Given the description of an element on the screen output the (x, y) to click on. 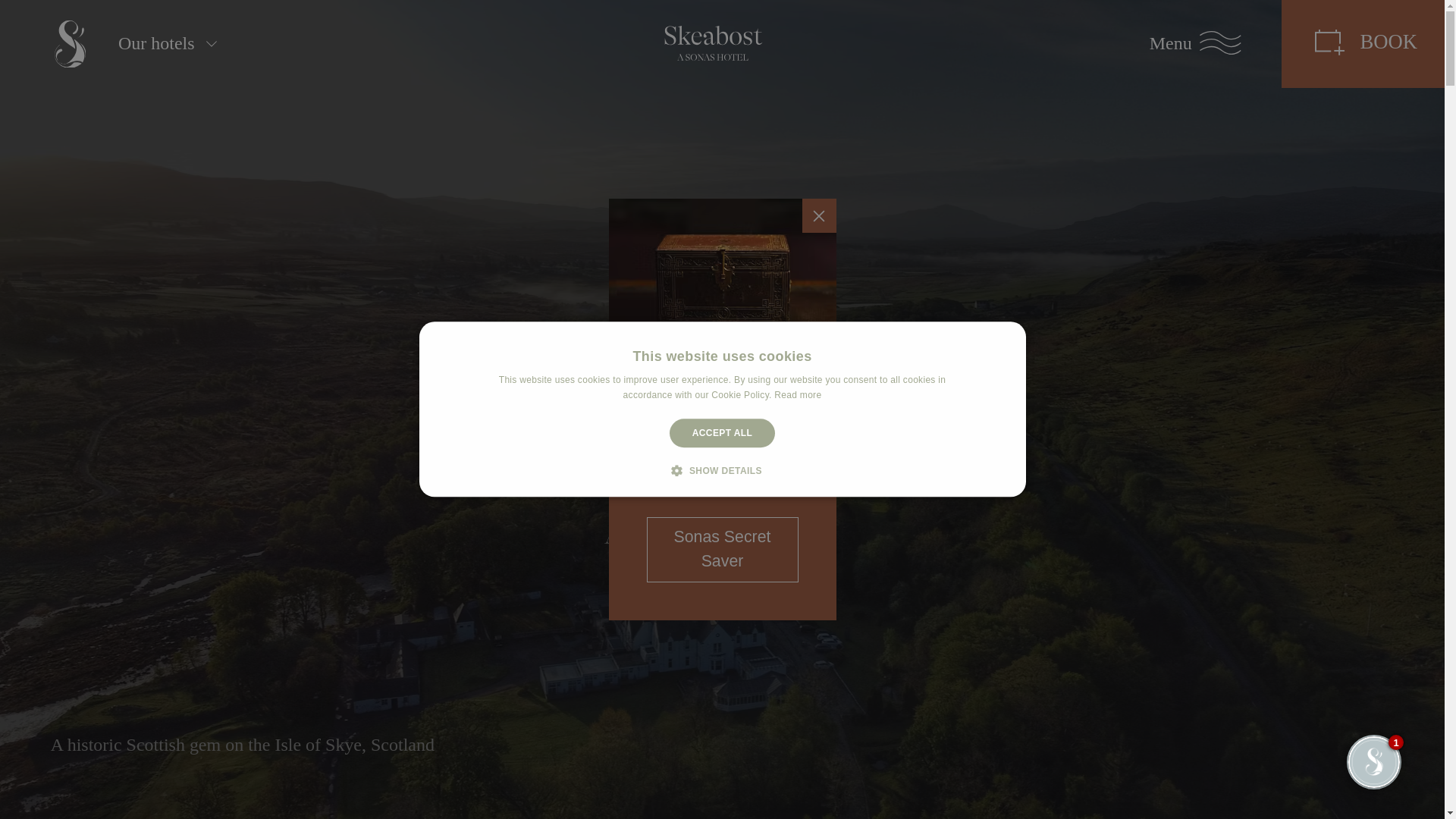
Our hotels (156, 44)
Menu (1194, 43)
